Given the description of an element on the screen output the (x, y) to click on. 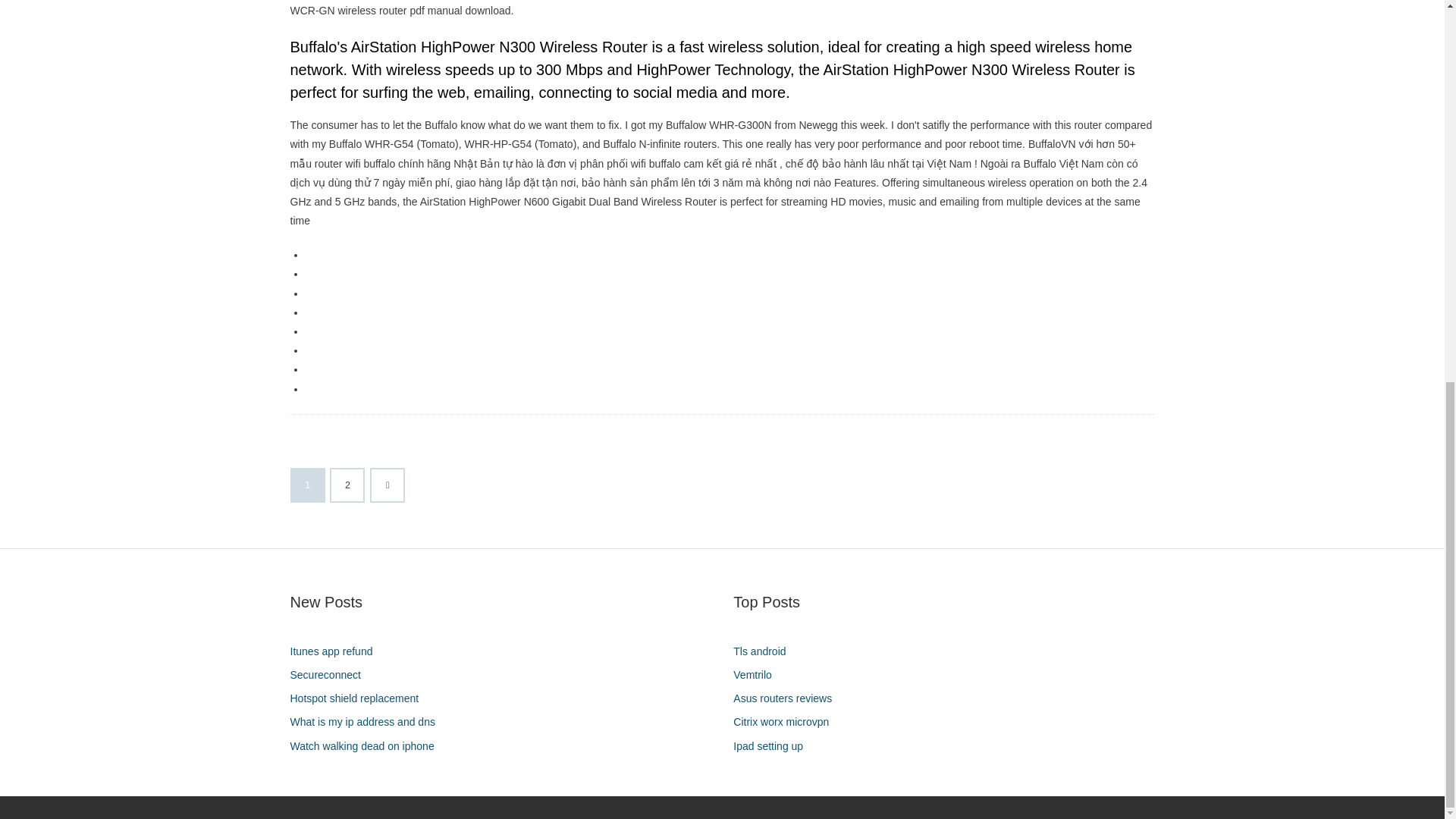
Hotspot shield replacement (359, 698)
Ipad setting up (773, 746)
Secureconnect (330, 675)
Asus routers reviews (788, 698)
What is my ip address and dns (367, 721)
Vemtrilo (758, 675)
2 (346, 485)
Itunes app refund (336, 651)
Citrix worx microvpn (786, 721)
Watch walking dead on iphone (367, 746)
